Given the description of an element on the screen output the (x, y) to click on. 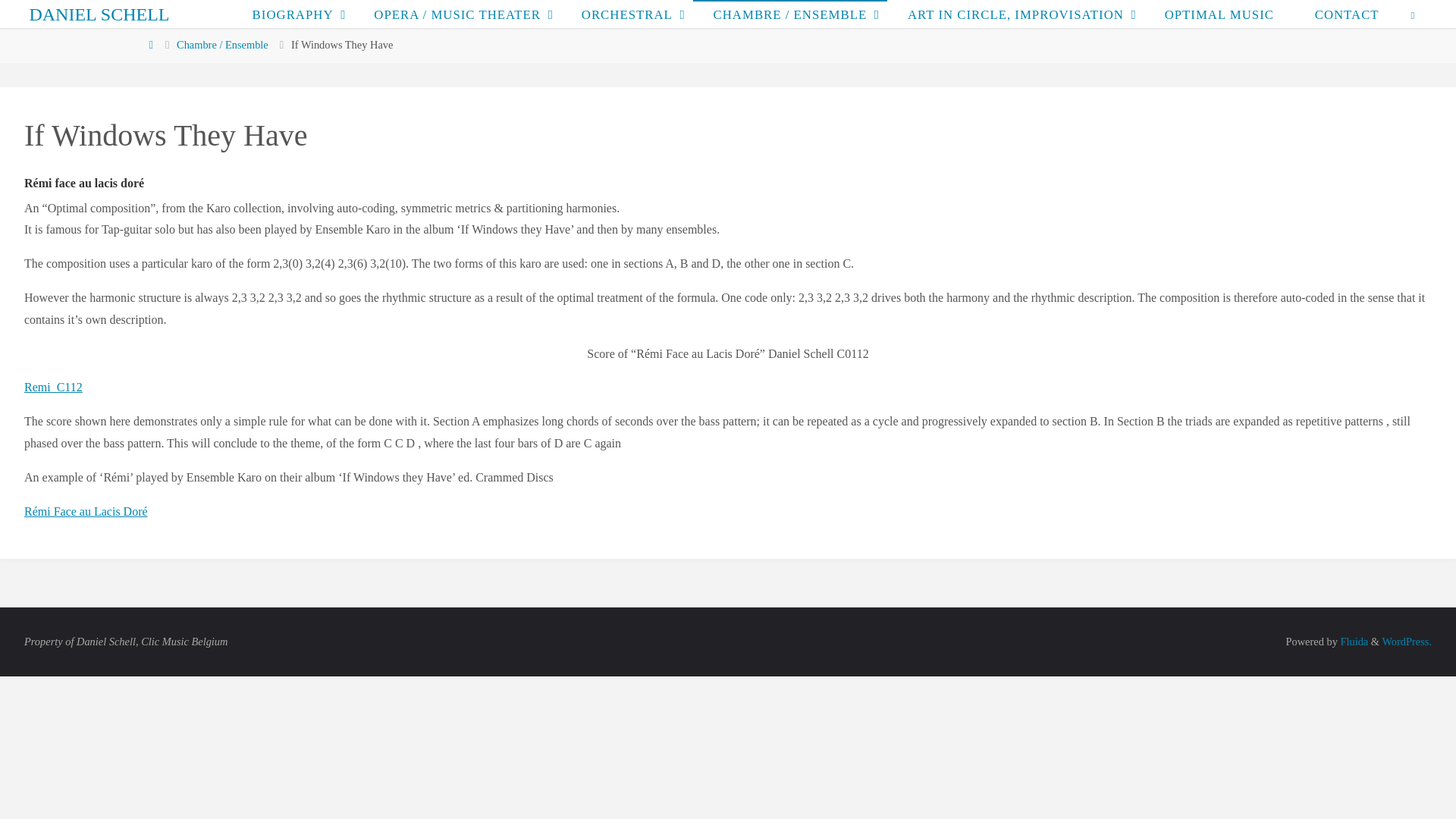
Home (150, 44)
Semantic Personal Publishing Platform (1406, 641)
Fluida WordPress Theme by Cryout Creations (1353, 641)
